Given the description of an element on the screen output the (x, y) to click on. 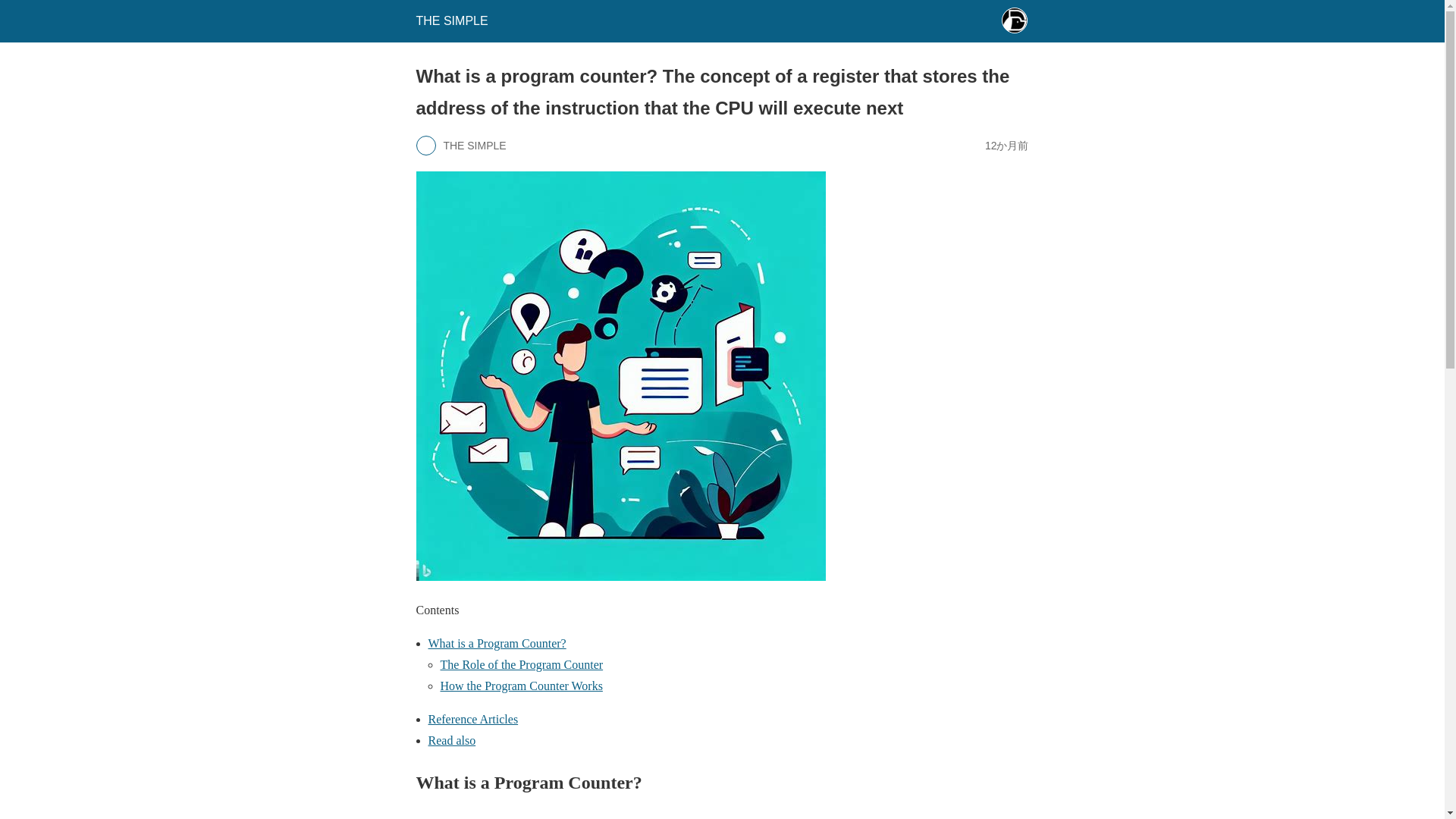
Read also (452, 739)
Reference Articles (473, 718)
THE SIMPLE (450, 20)
How the Program Counter Works (520, 685)
What is a Program Counter? (497, 643)
The Role of the Program Counter (520, 664)
